Given the description of an element on the screen output the (x, y) to click on. 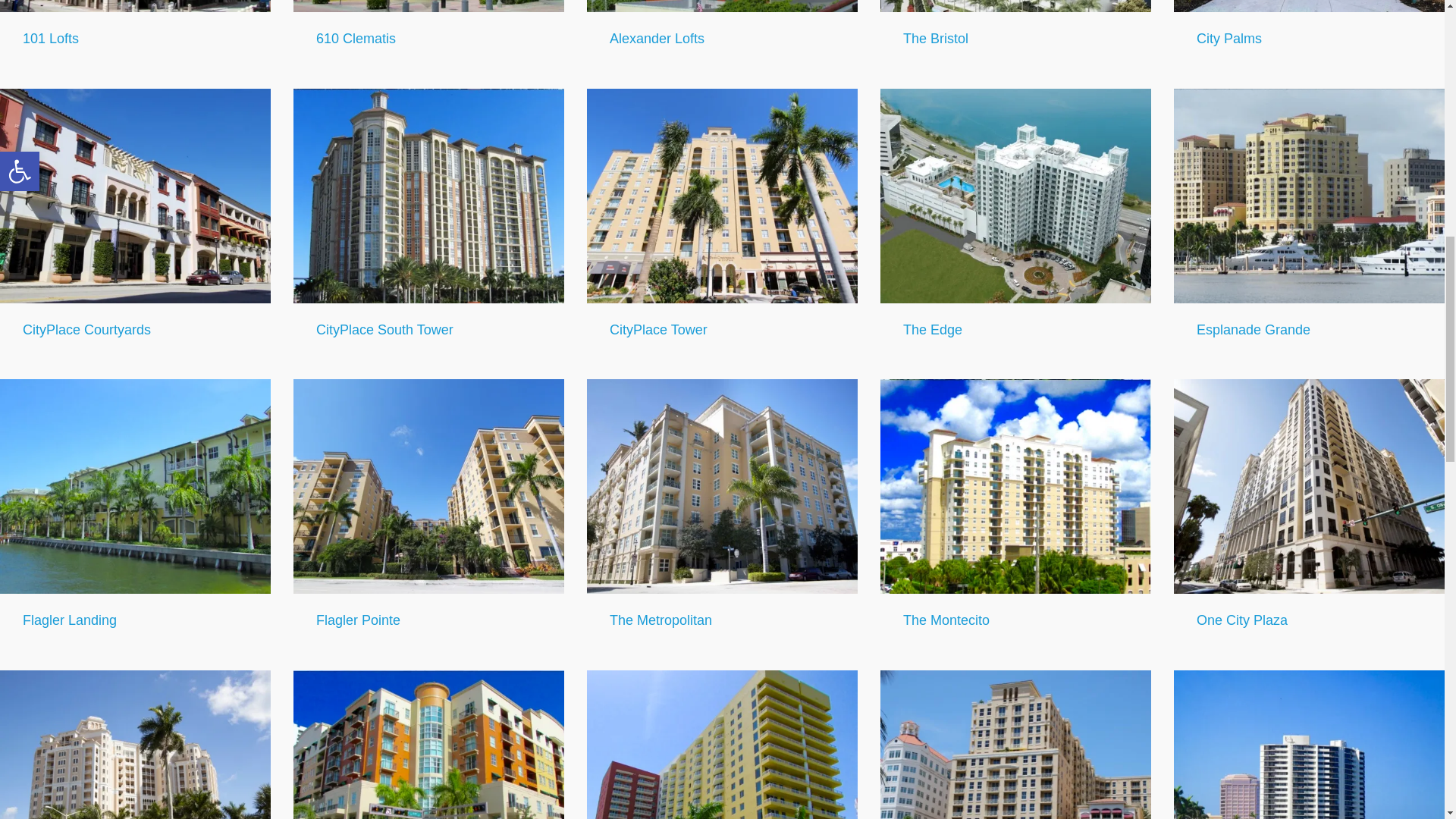
Esplanade Grande (1253, 329)
Flagler Pointe (429, 486)
Alexander Lofts (721, 6)
CityPlace Courtyards (87, 329)
Alexander Lofts (657, 38)
The Edge (932, 329)
The Edge (1015, 195)
101 Lofts (135, 6)
CityPlace South Tower (429, 195)
City Palms (1229, 38)
610 Clematis (355, 38)
CityPlace Tower (721, 195)
CityPlace Tower (658, 329)
CityPlace Courtyards (135, 195)
610 Clematis (429, 6)
